Given the description of an element on the screen output the (x, y) to click on. 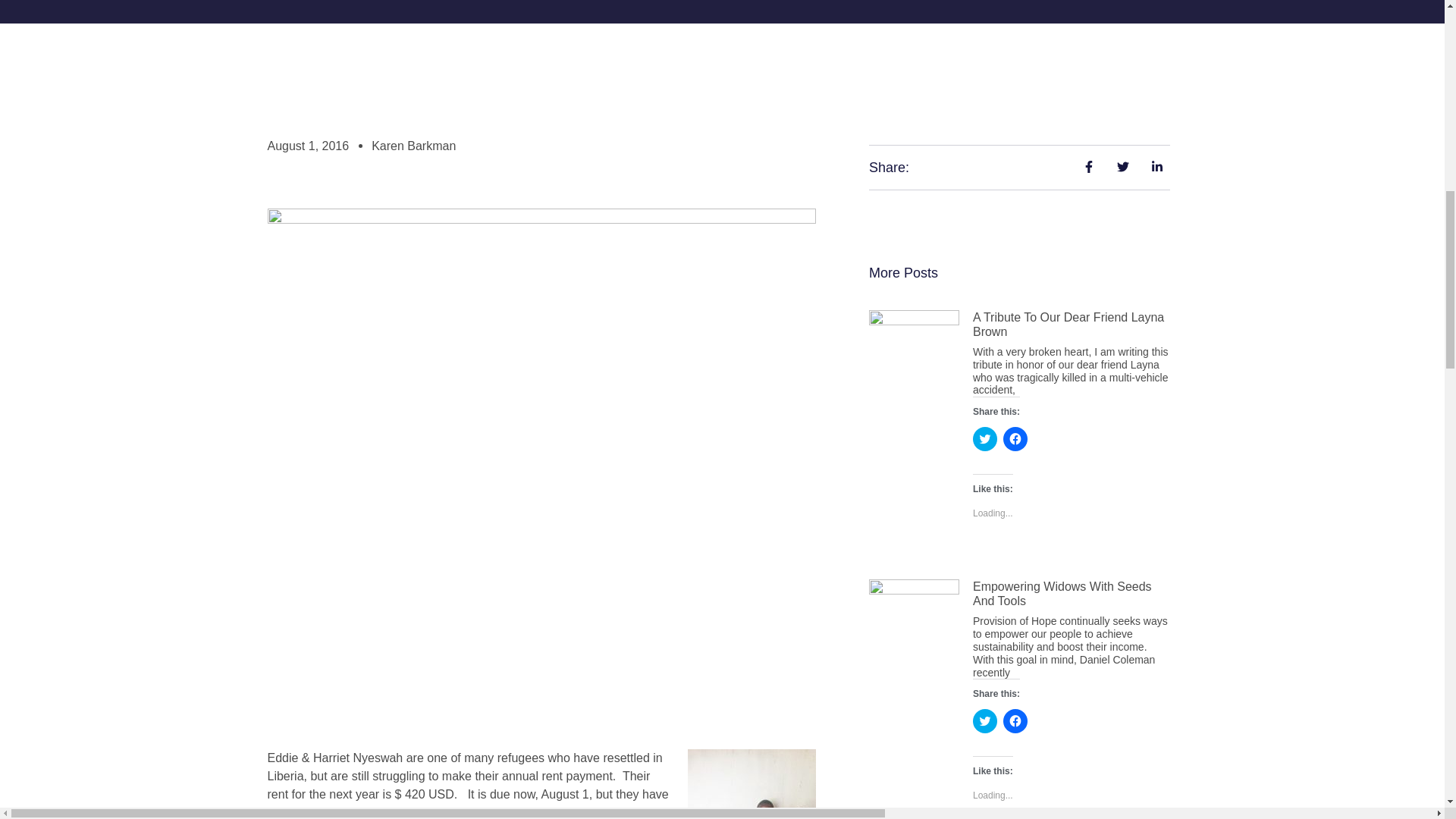
Click to share on Twitter (984, 438)
Click to share on Facebook (1015, 721)
Click to share on Facebook (1015, 438)
Click to share on Twitter (984, 721)
